Given the description of an element on the screen output the (x, y) to click on. 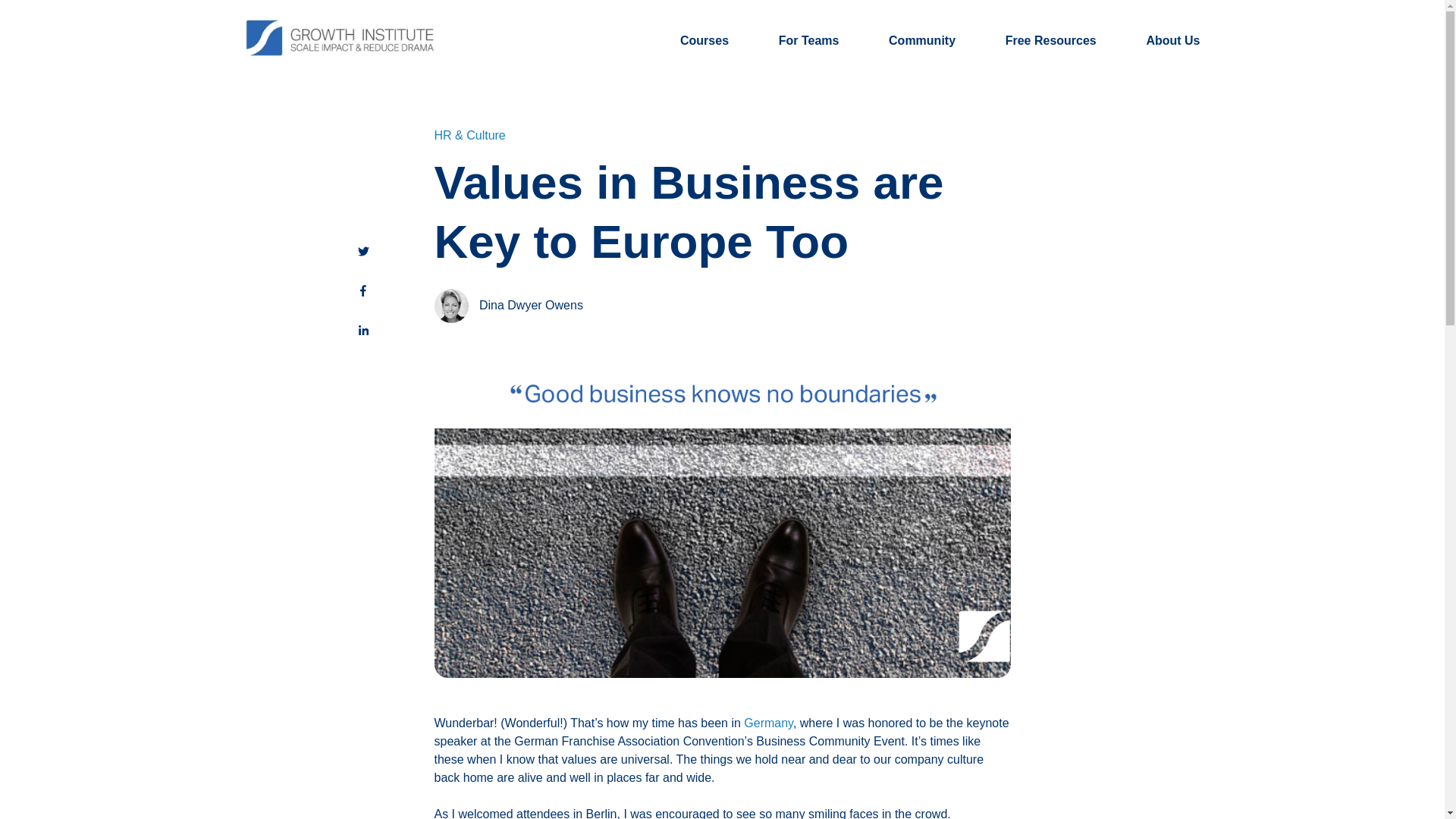
Share this blog post on Twitter (363, 251)
Germany (768, 722)
Courses (704, 39)
Free Resources (1051, 39)
Dina Dwyer Owens (531, 305)
About Us (1172, 39)
For Teams (809, 39)
Community (921, 39)
